Given the description of an element on the screen output the (x, y) to click on. 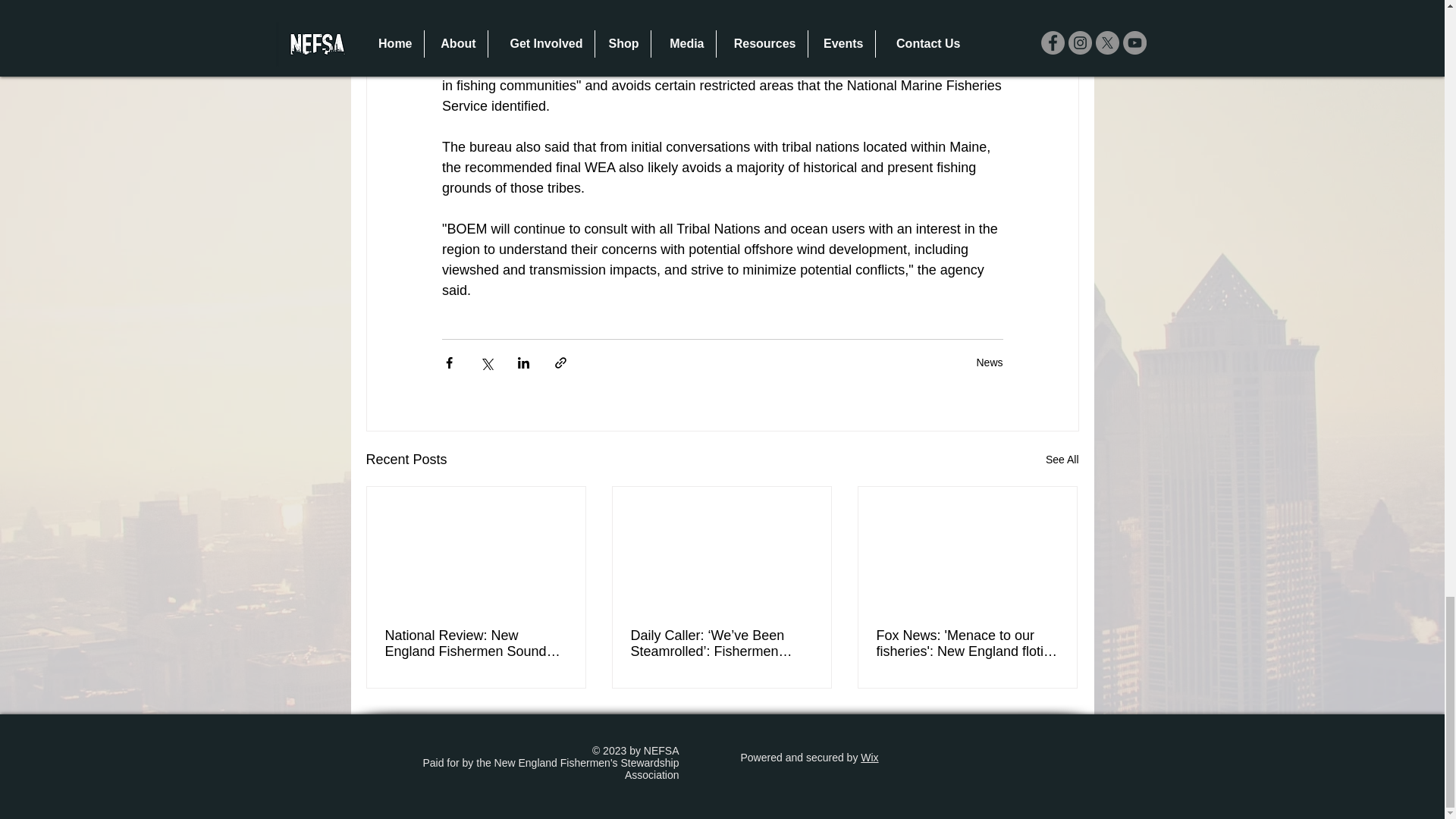
News (989, 362)
See All (1061, 459)
Wix (868, 757)
